Given the description of an element on the screen output the (x, y) to click on. 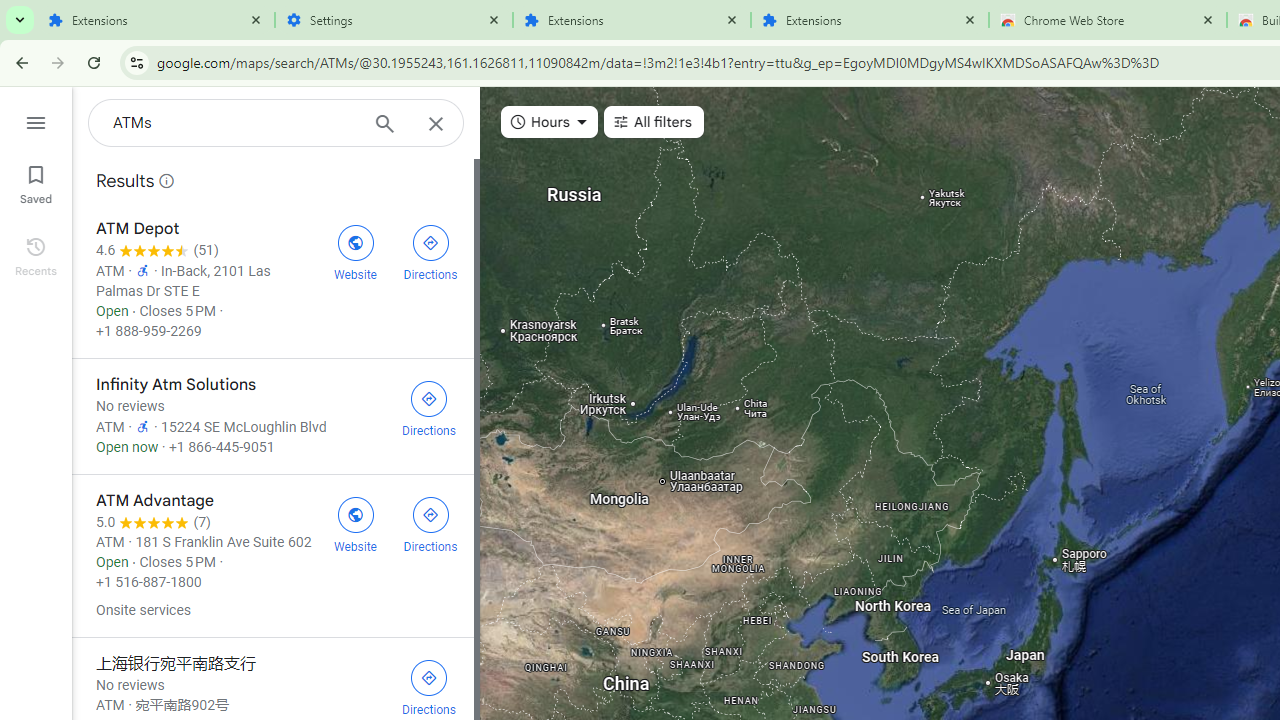
5.0 stars 7 Reviews (153, 522)
ATM Advantage (272, 556)
Infinity Atm Solutions (272, 416)
Visit ATM Depot's website (354, 250)
Get directions to ATM Depot (430, 250)
AutomationID: searchboxinput (234, 122)
Hours (548, 122)
All filters (653, 122)
Wheelchair accessible entrance (142, 425)
